Given the description of an element on the screen output the (x, y) to click on. 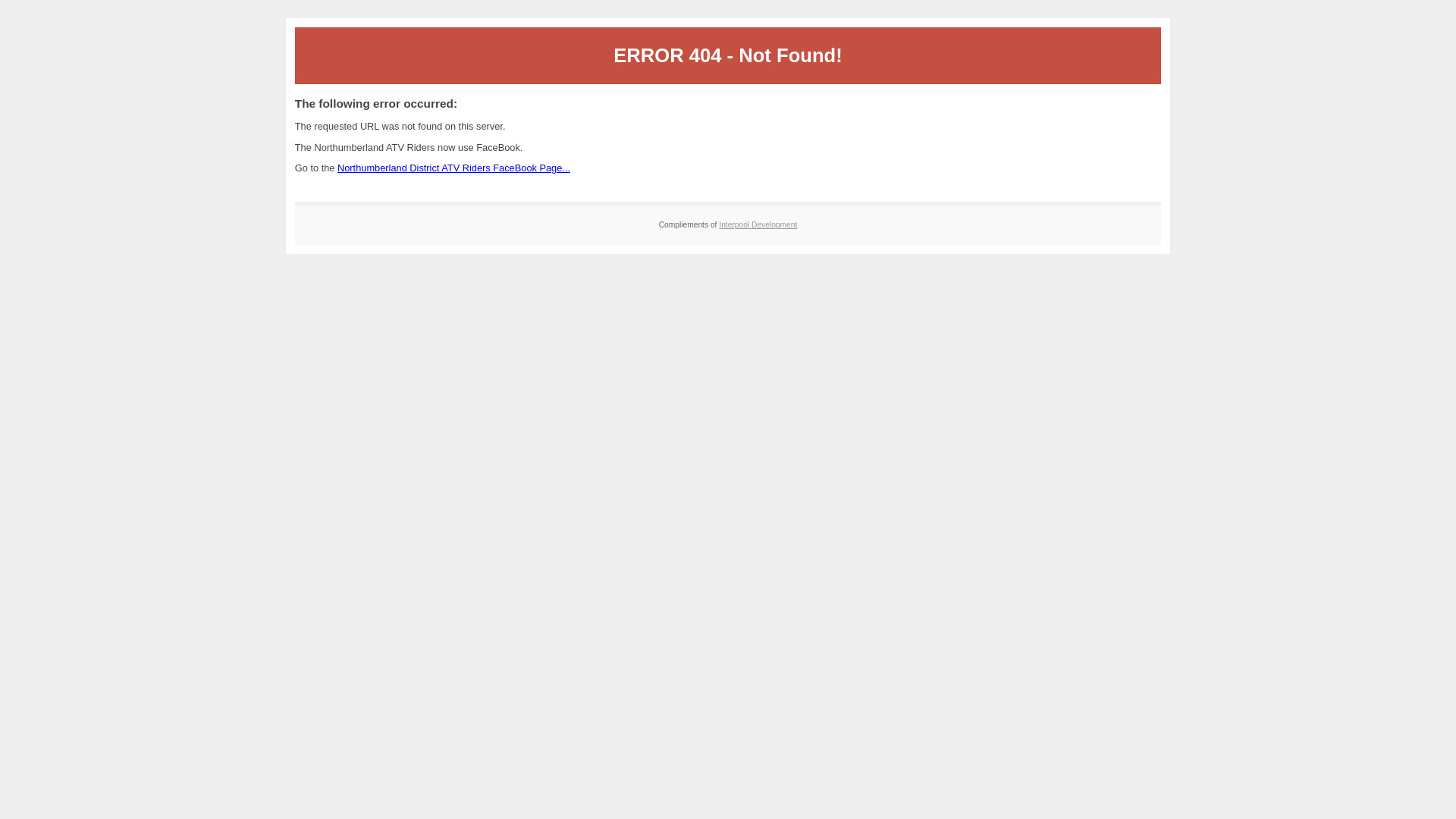
Interpool Development (757, 224)
Northumberland District ATV Riders FaceBook Page... (453, 167)
